Given the description of an element on the screen output the (x, y) to click on. 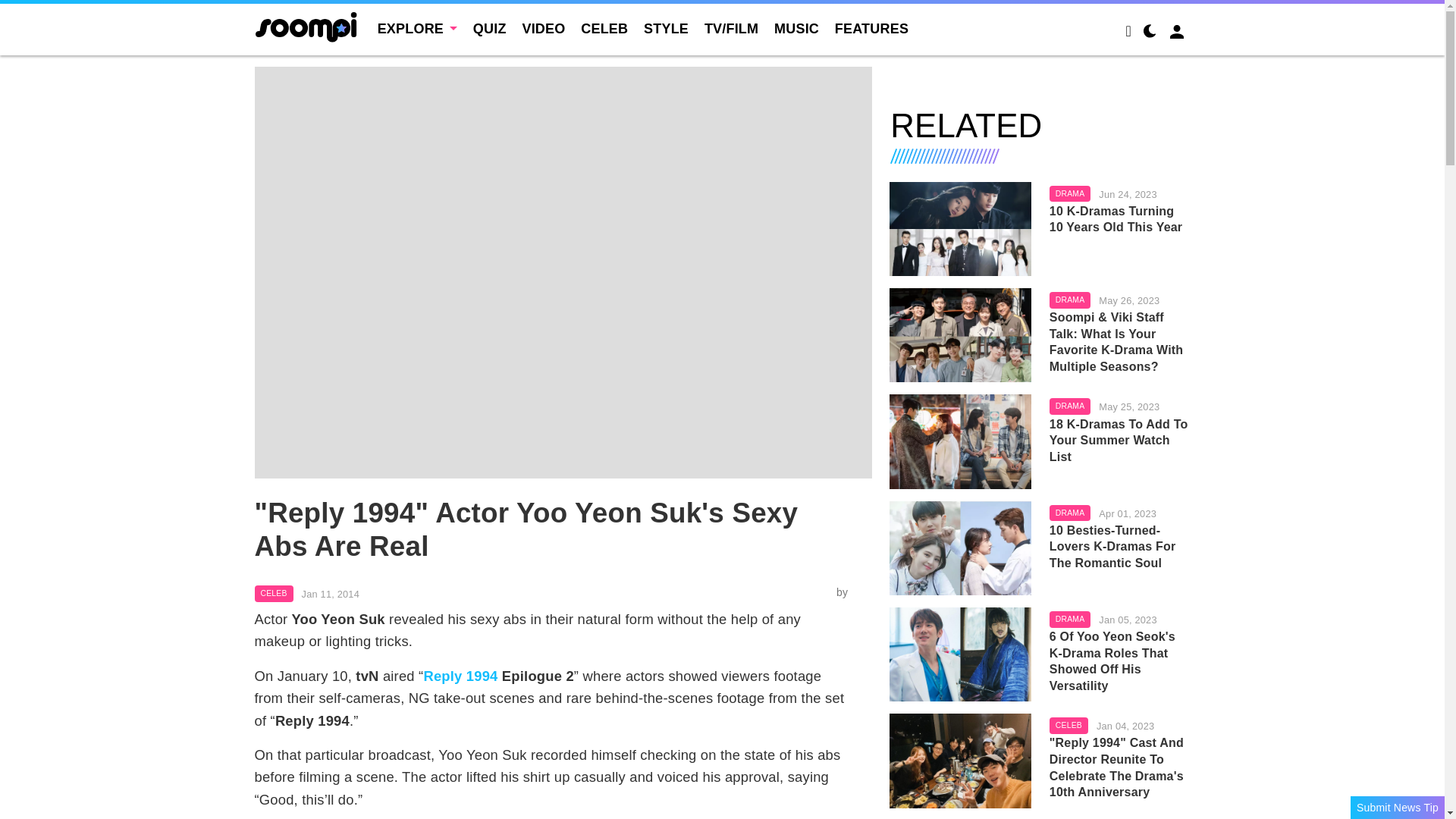
STYLE (665, 28)
Celeb (274, 593)
VIDEO (542, 28)
EXPLORE (417, 28)
CELEB (603, 28)
QUIZ (489, 28)
MUSIC (796, 28)
Reply 1994 (460, 675)
FEATURES (871, 28)
10 K-Dramas Turning 10 Years Old This Year (1120, 219)
CELEB (274, 593)
Drama (1069, 193)
Night Mode Toggle (1149, 33)
10 K-Dramas Turning 10 Years Old This Year (959, 228)
